Given the description of an element on the screen output the (x, y) to click on. 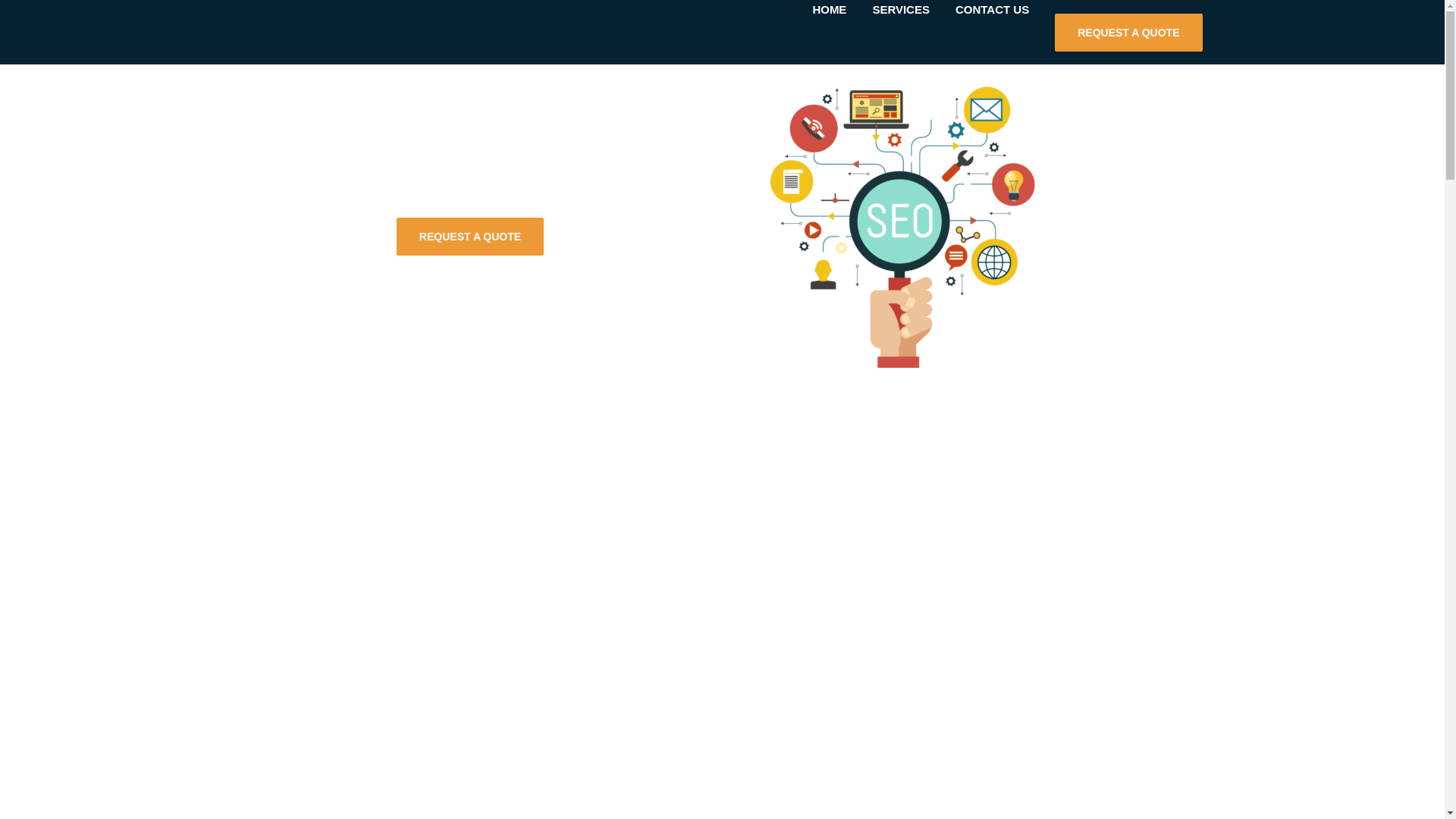
REQUEST A QUOTE (1128, 32)
REQUEST A QUOTE (469, 236)
seo services winnipeg (896, 215)
HOME (829, 9)
CONTACT US (992, 9)
SERVICES (900, 9)
